Given the description of an element on the screen output the (x, y) to click on. 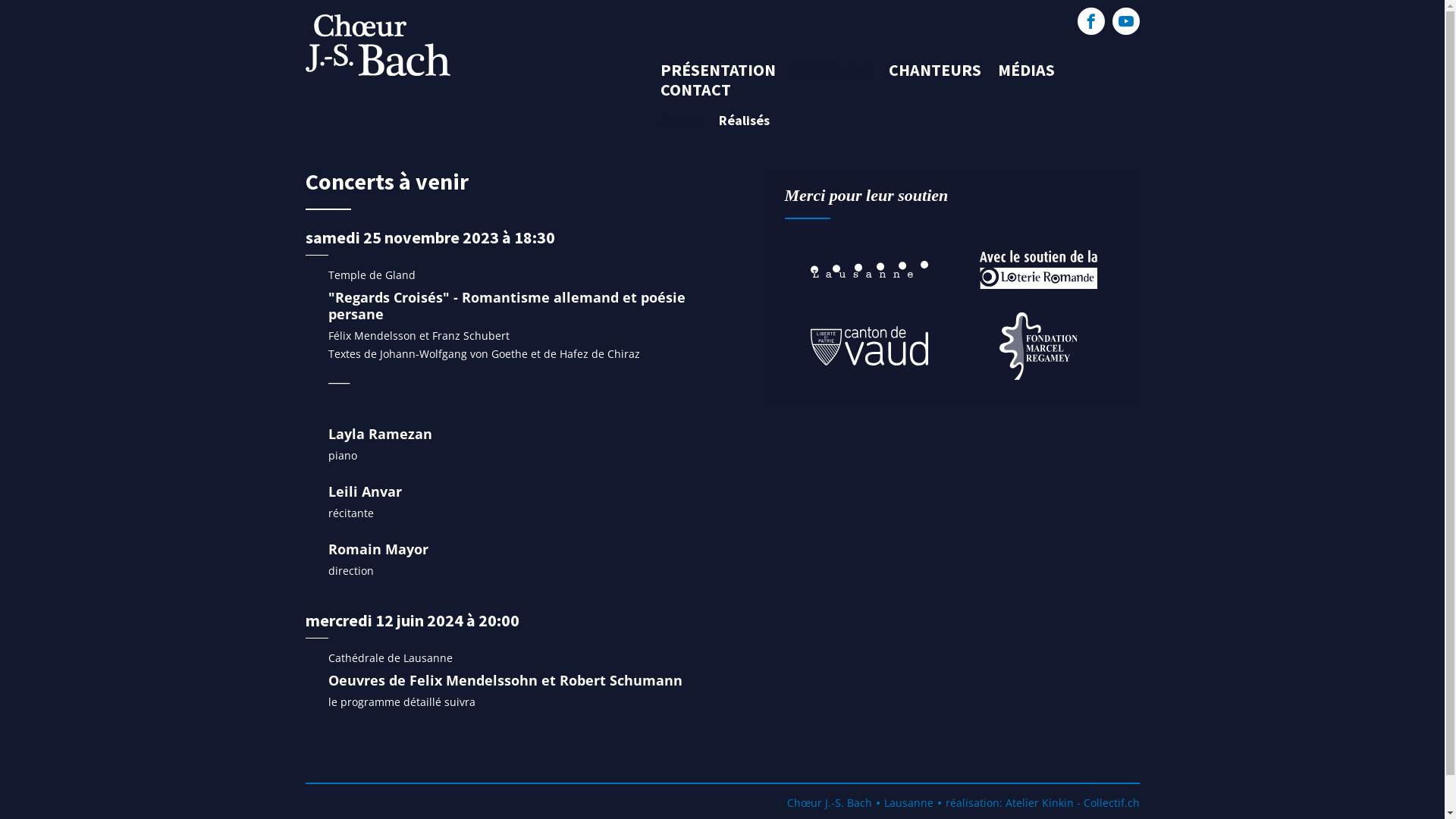
CHANTEURS Element type: text (934, 69)
CONCERTS Element type: text (831, 69)
CONTACT Element type: text (694, 89)
Collectif.ch Element type: text (1110, 802)
Atelier Kinkin Element type: text (1039, 802)
